Given the description of an element on the screen output the (x, y) to click on. 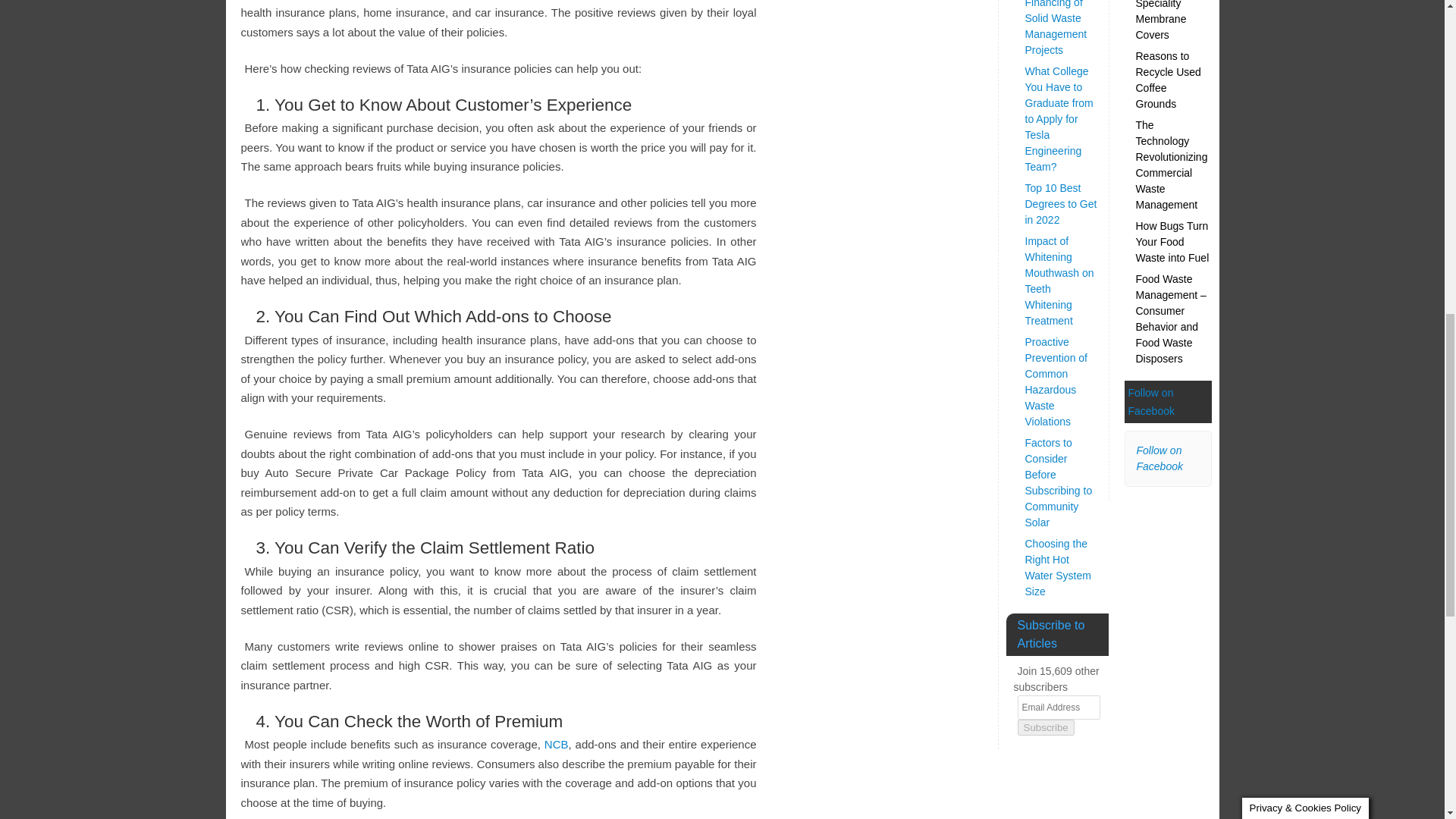
NCB (556, 744)
